Given the description of an element on the screen output the (x, y) to click on. 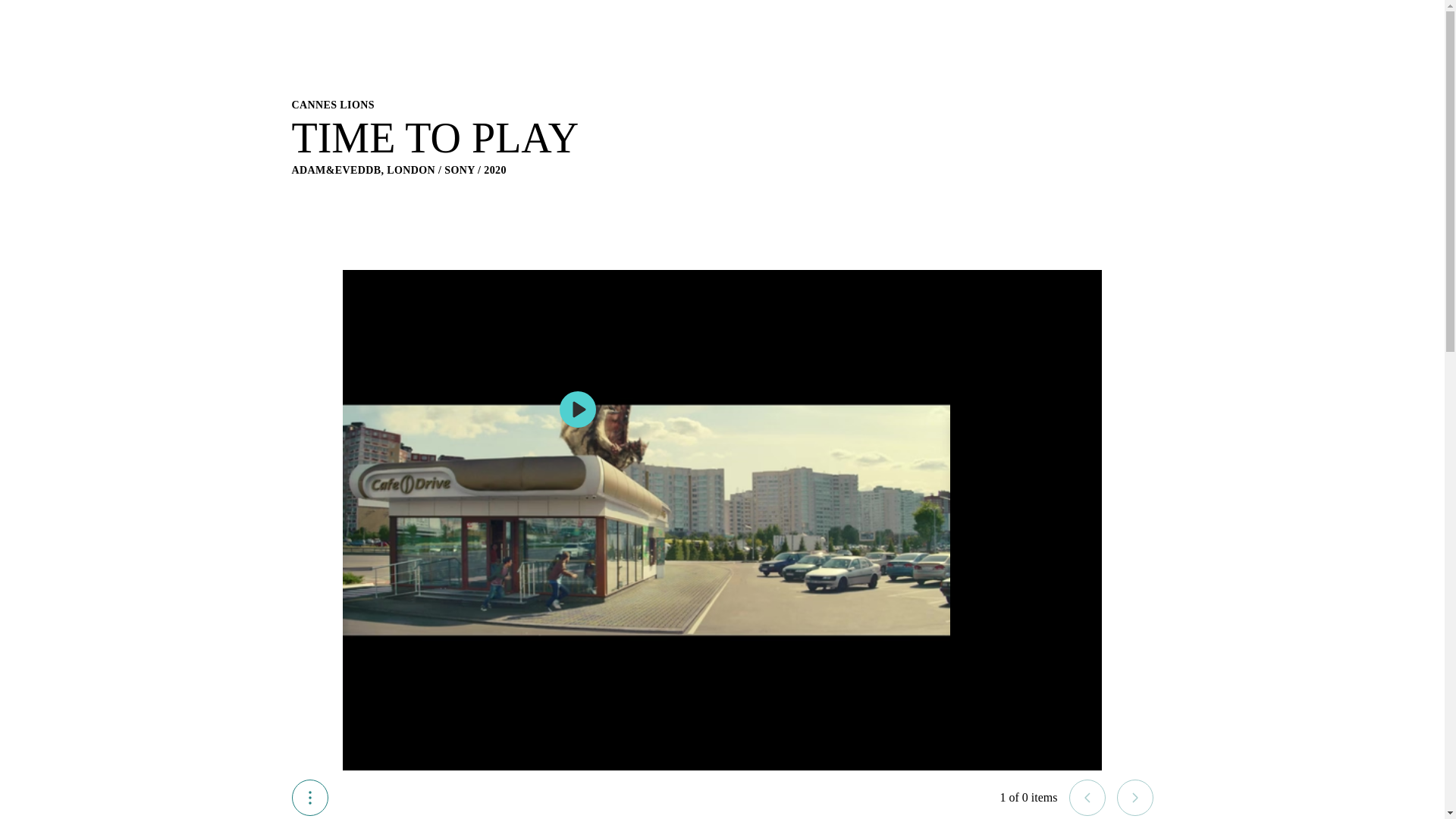
Go to next carousel item (1134, 797)
Go to previous carousel item (1086, 797)
Open carousel dropdown menu. (309, 797)
PlayFull (577, 409)
